Given the description of an element on the screen output the (x, y) to click on. 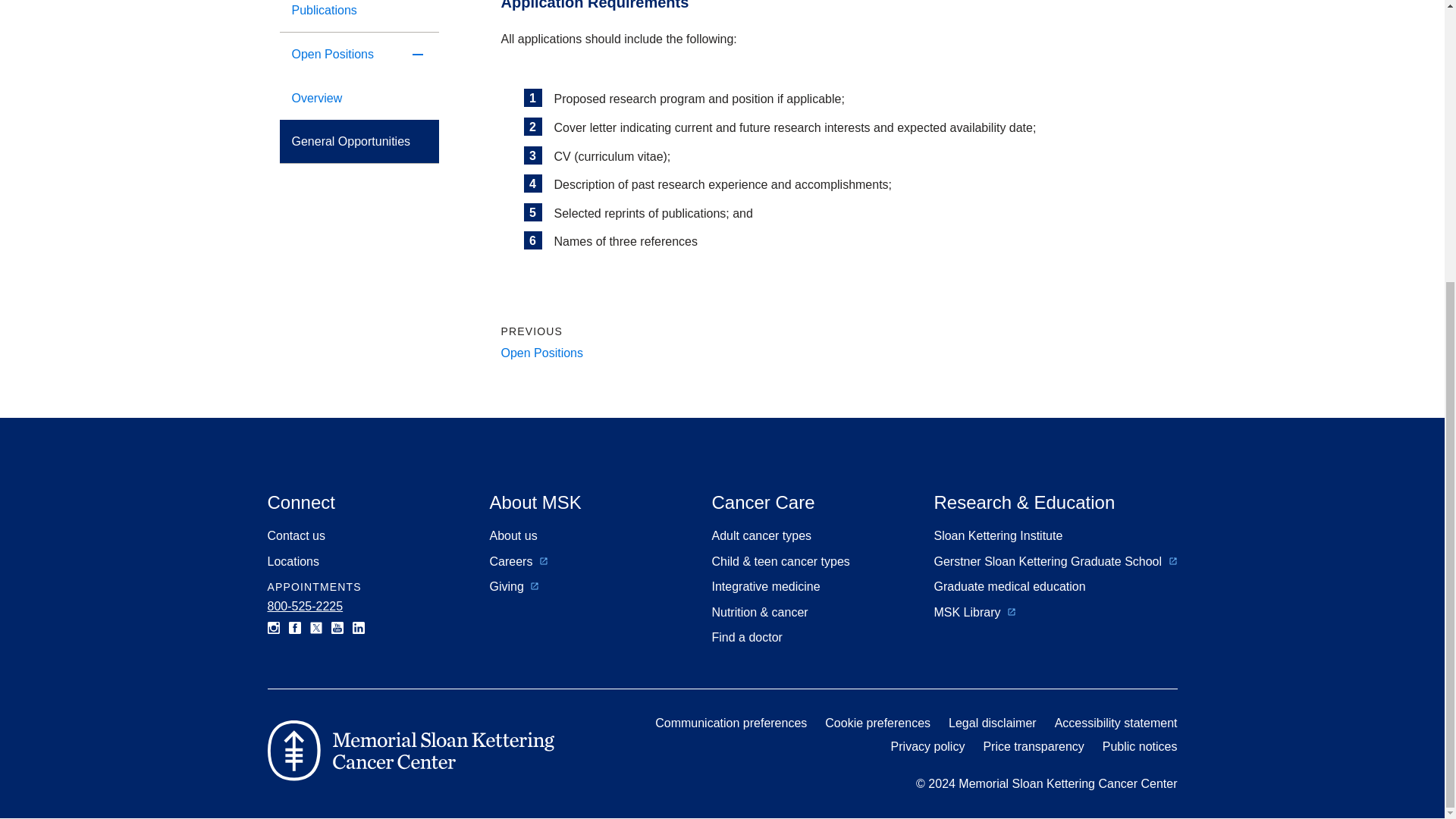
Memorial Sloan Kettering Cancer Center (409, 750)
